Given the description of an element on the screen output the (x, y) to click on. 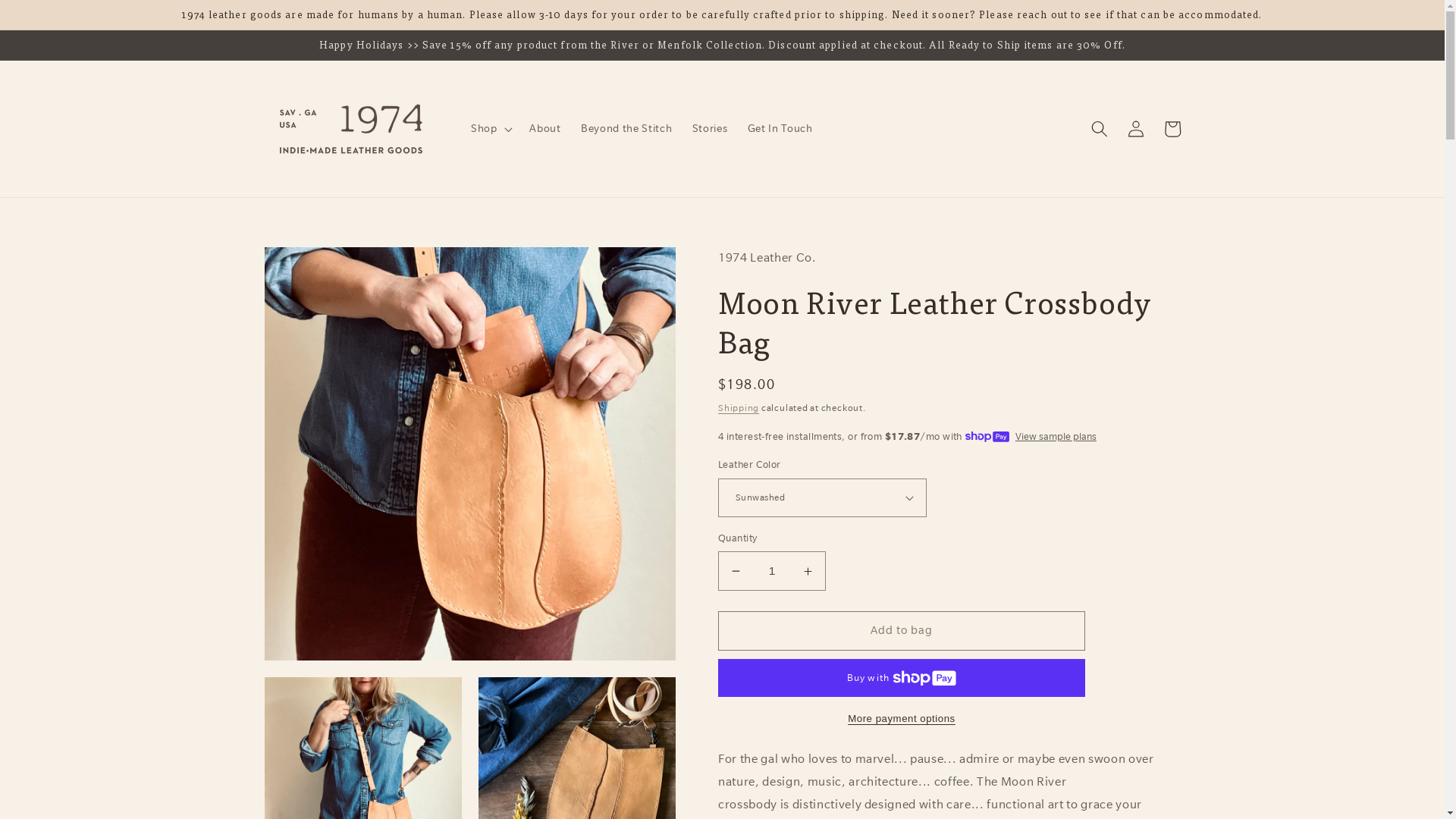
Stories Element type: text (709, 128)
Increase quantity for Moon River Leather Crossbody Bag Element type: text (807, 570)
More payment options Element type: text (901, 718)
Decrease quantity for Moon River Leather Crossbody Bag Element type: text (735, 570)
Log in Element type: text (1135, 128)
Skip to product information Element type: text (313, 265)
Bag Element type: text (1172, 128)
About Element type: text (545, 128)
Shipping Element type: text (738, 407)
Add to bag Element type: text (901, 630)
Beyond the Stitch Element type: text (626, 128)
Get In Touch Element type: text (779, 128)
